Given the description of an element on the screen output the (x, y) to click on. 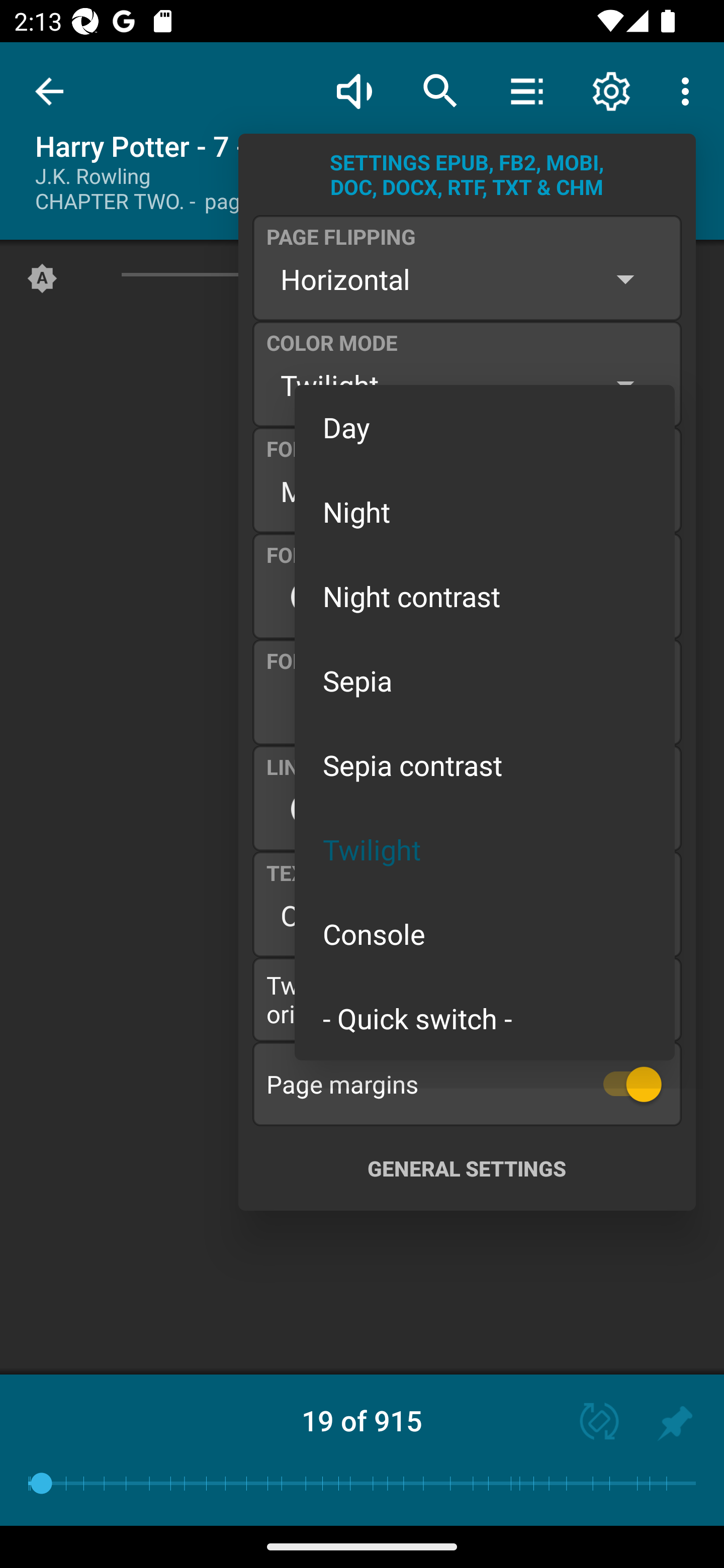
Day (484, 426)
Night (484, 510)
Night contrast (484, 595)
Sepia (484, 680)
Sepia contrast (484, 764)
Twilight (484, 849)
Console (484, 933)
- Quick switch - (484, 1017)
